Given the description of an element on the screen output the (x, y) to click on. 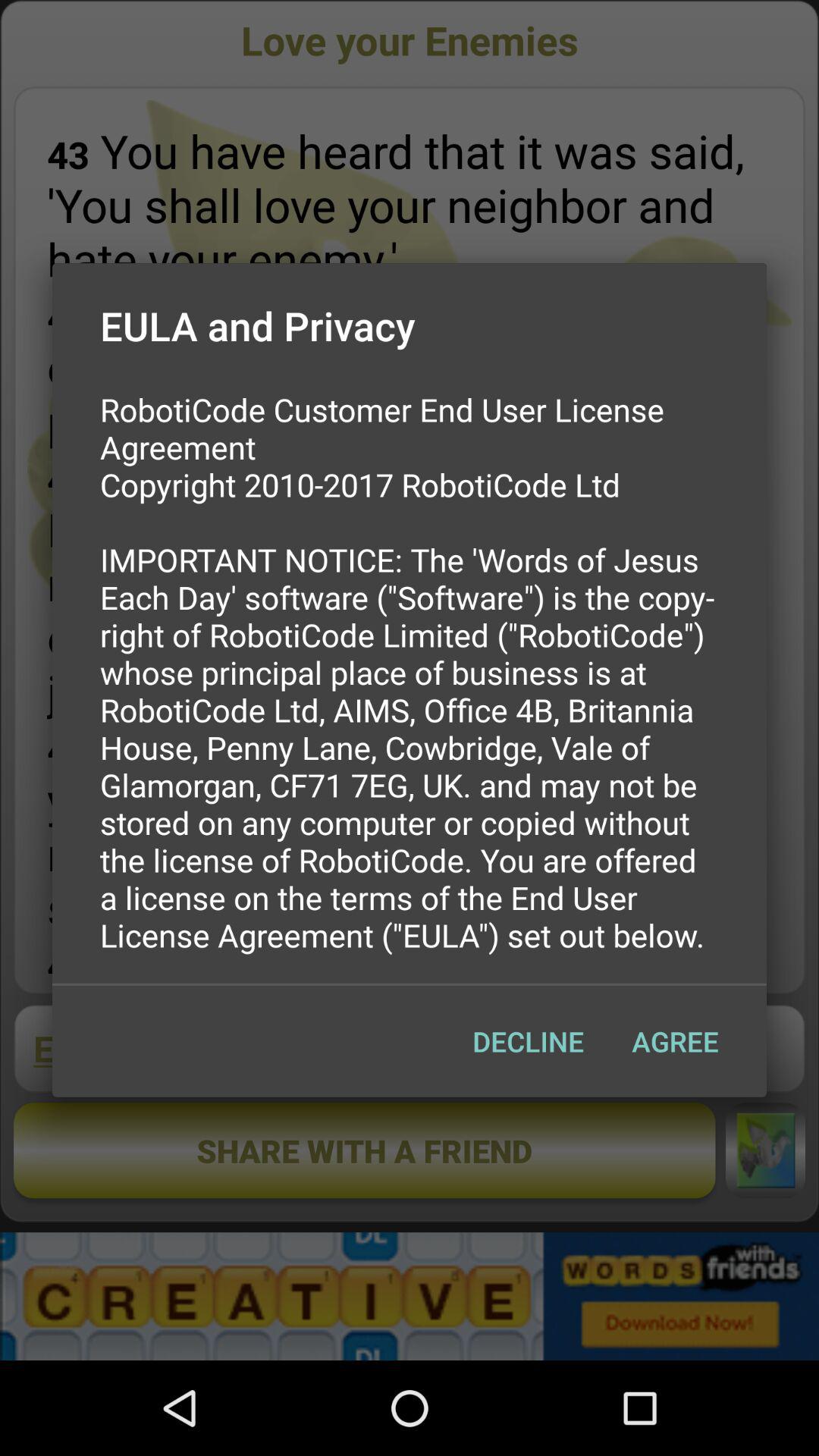
select the button to the right of decline button (674, 1041)
